Given the description of an element on the screen output the (x, y) to click on. 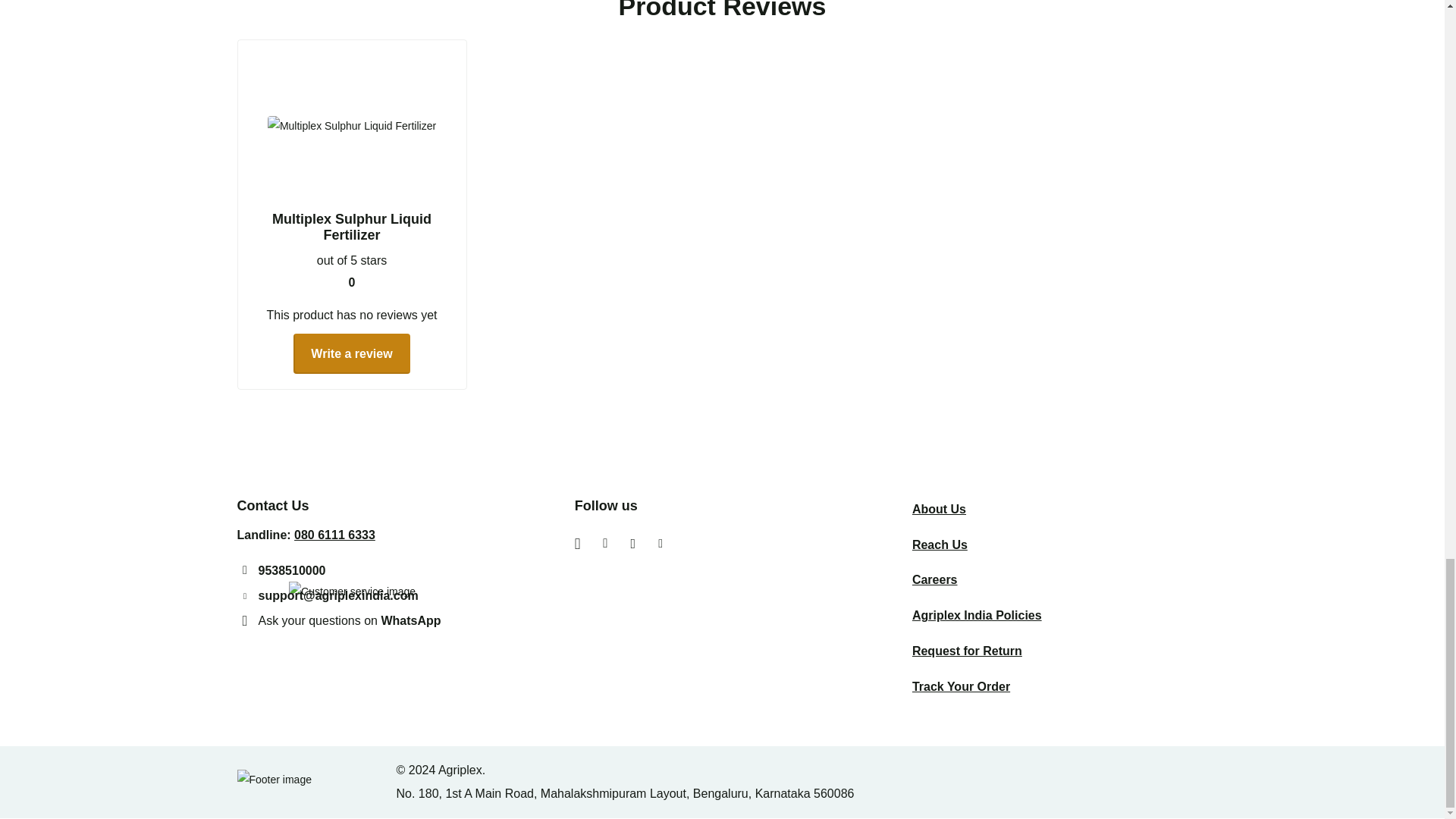
Careers- Apply Here (935, 579)
About Us (939, 508)
Contact Us (940, 544)
Agriplex India Policies (977, 615)
